Given the description of an element on the screen output the (x, y) to click on. 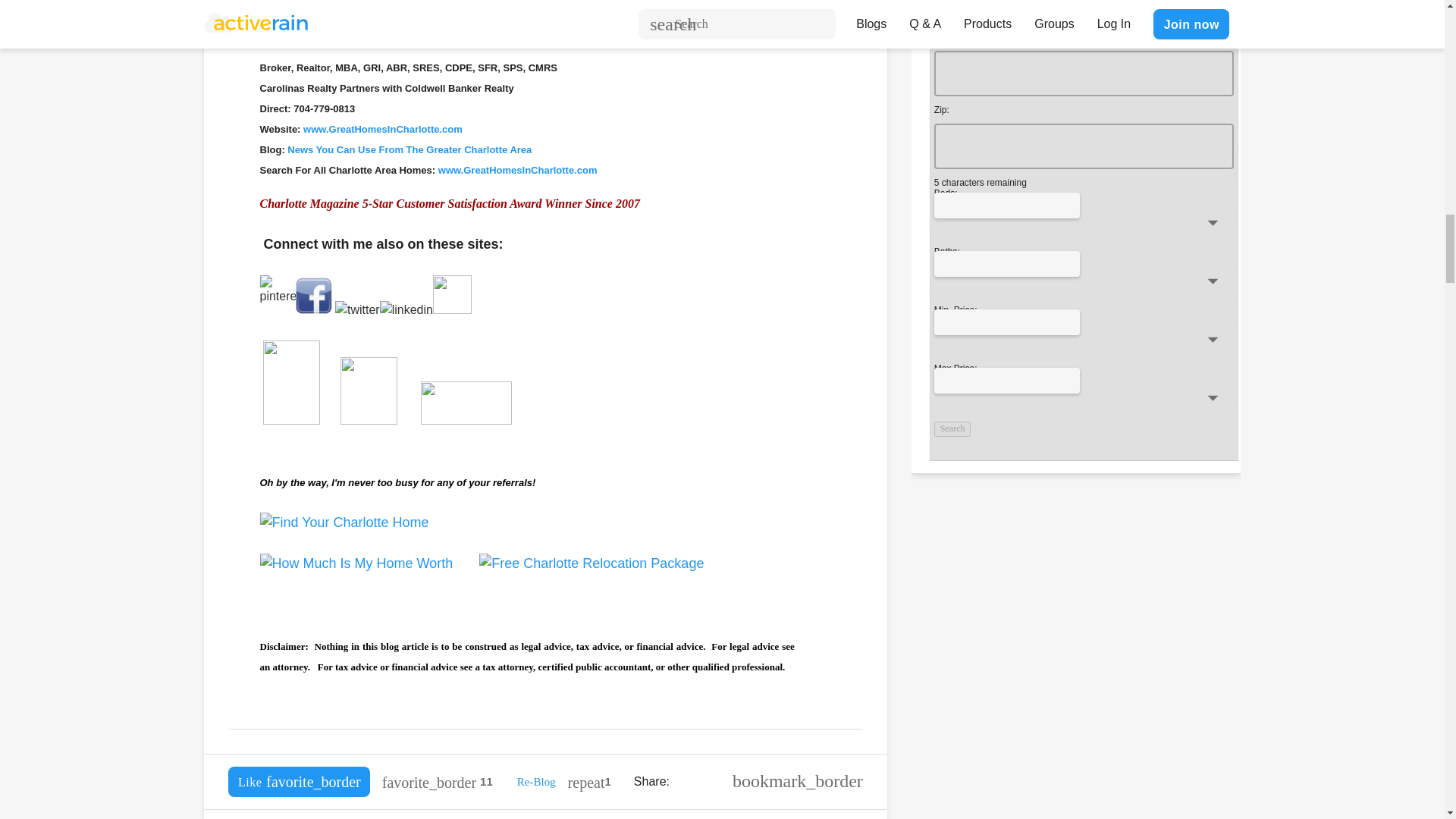
Search (952, 428)
News You Can Use From The Greater Charlotte Area (408, 149)
www.GreatHomesInCharlotte.com  (518, 170)
Nina Hollander on Twitter (357, 309)
Nina Hollander on LinkedIn (425, 309)
www.GreatHomesInCharlotte.com (380, 129)
Nina Hollander on Facebook (313, 309)
Re-Blogged 1 time (589, 781)
